Given the description of an element on the screen output the (x, y) to click on. 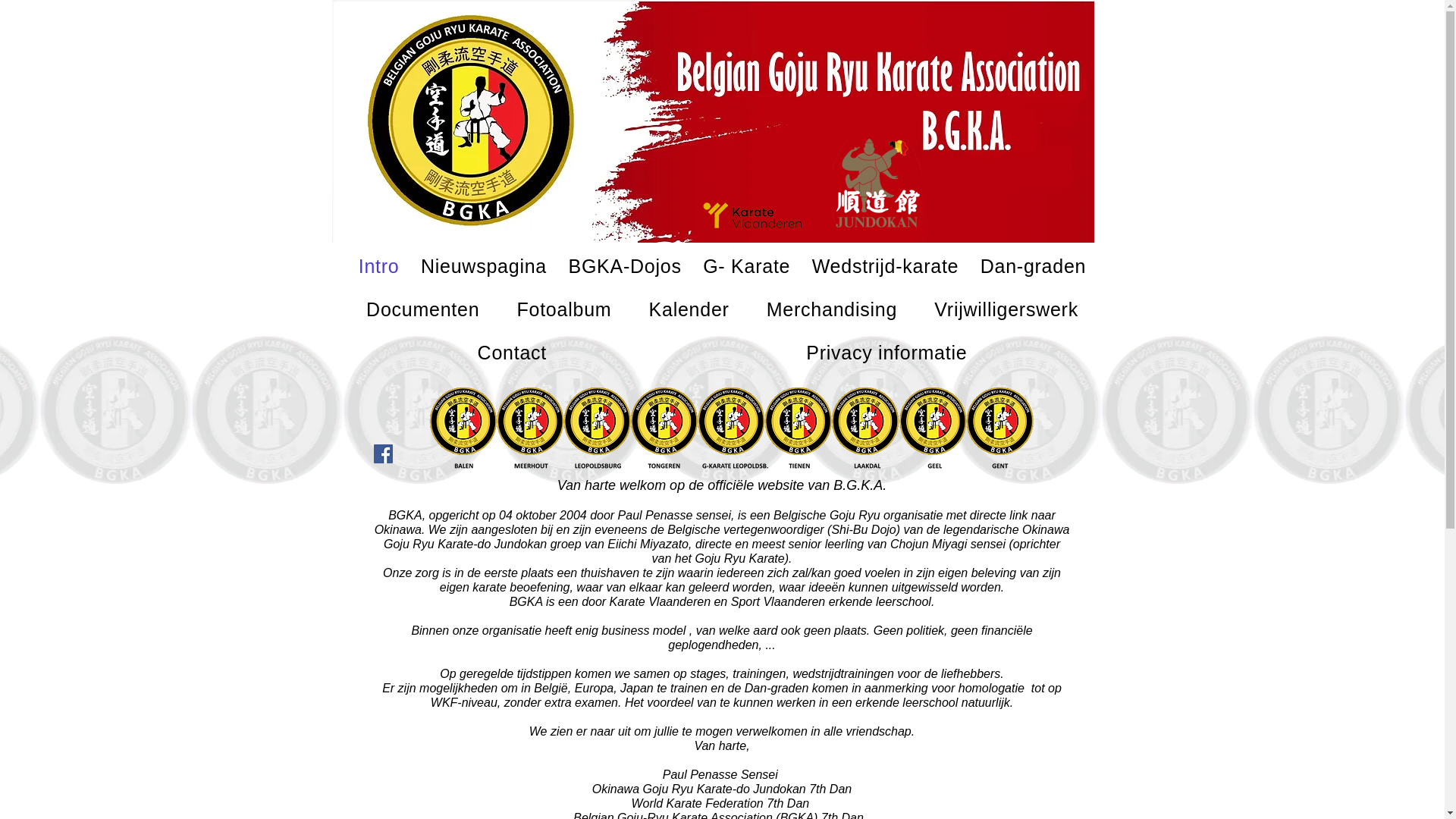
Intro Element type: text (378, 266)
Kalender Element type: text (688, 309)
Nieuwspagina Element type: text (484, 266)
Documenten Element type: text (422, 309)
Merchandising Element type: text (831, 309)
Wedstrijd-karate Element type: text (884, 266)
Privacy informatie Element type: text (886, 352)
Contact Element type: text (511, 352)
Fotoalbum Element type: text (564, 309)
Vrijwilligerswerk Element type: text (1006, 309)
BGKA-Dojos Element type: text (624, 266)
G- Karate Element type: text (746, 266)
Dan-graden Element type: text (1032, 266)
